Given the description of an element on the screen output the (x, y) to click on. 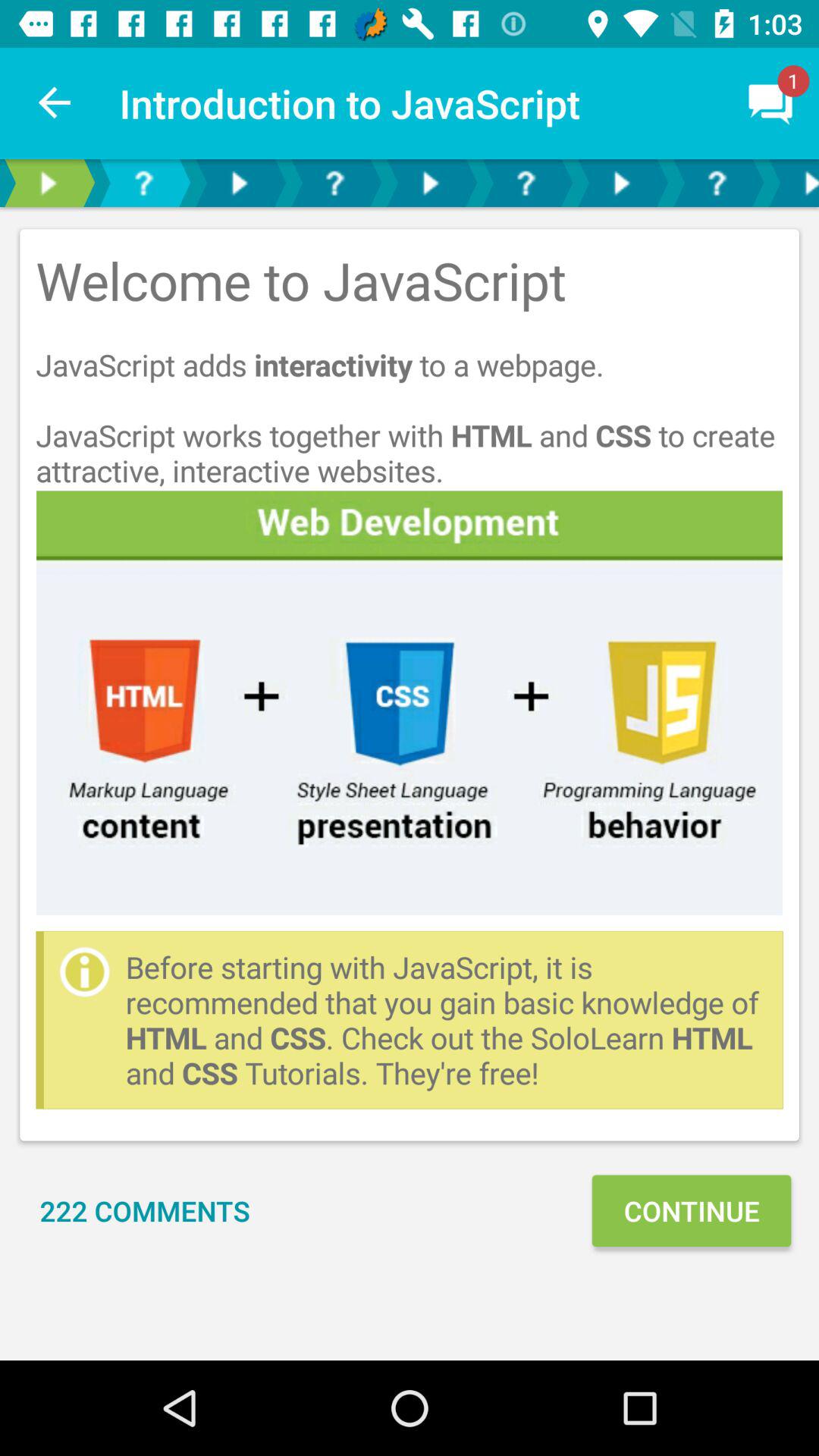
more options (791, 183)
